Given the description of an element on the screen output the (x, y) to click on. 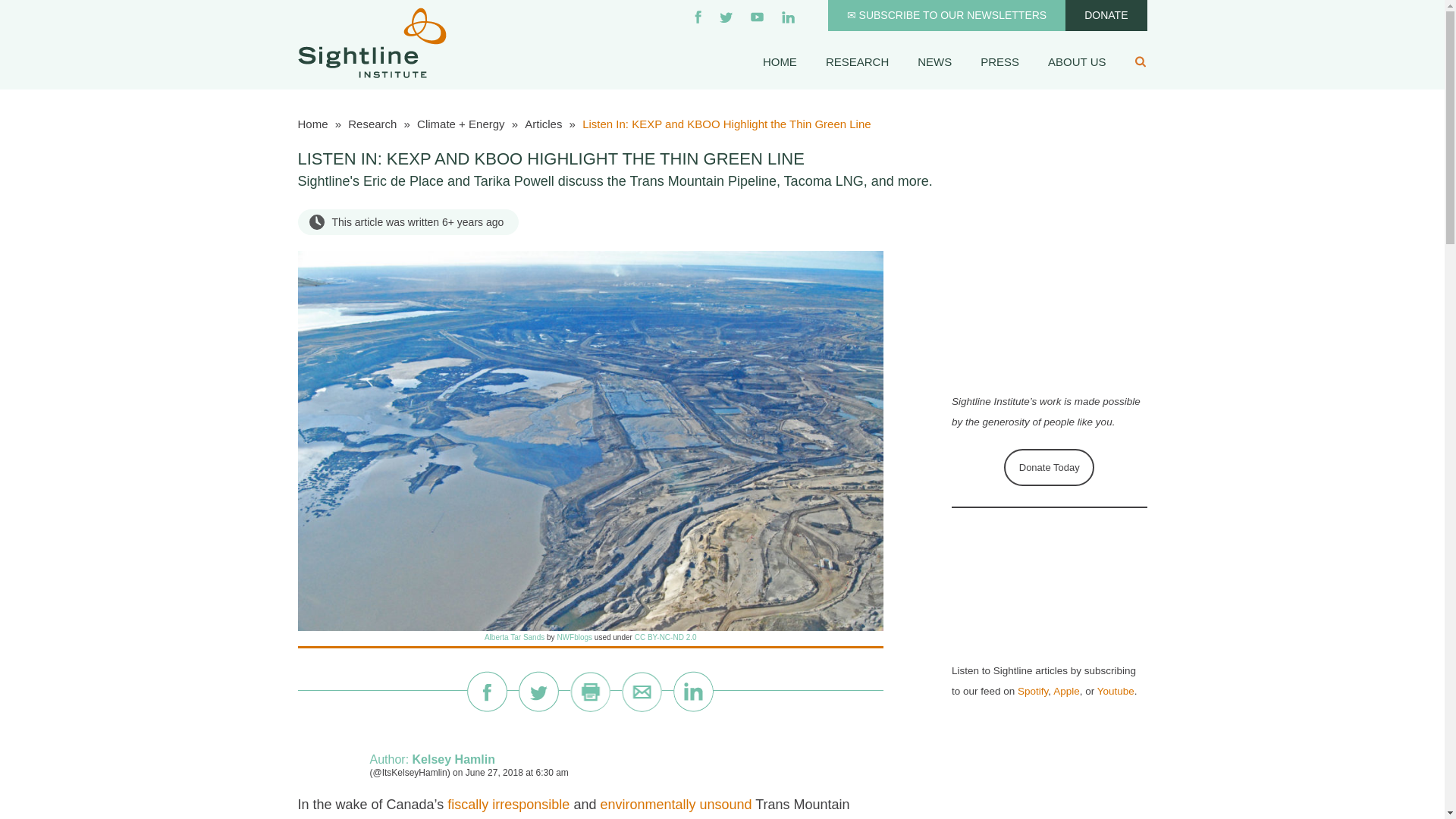
Posts by Kelsey Hamlin (453, 758)
ABOUT US (1076, 61)
Share This Post on LinkedIN (692, 690)
PRESS (999, 61)
NEWS (934, 61)
Kelsey Hamlin on twitter (409, 772)
Share This Post by Email (641, 690)
HOME (779, 61)
Sightline Institute (371, 41)
RESEARCH (856, 61)
DONATE (1106, 15)
